Given the description of an element on the screen output the (x, y) to click on. 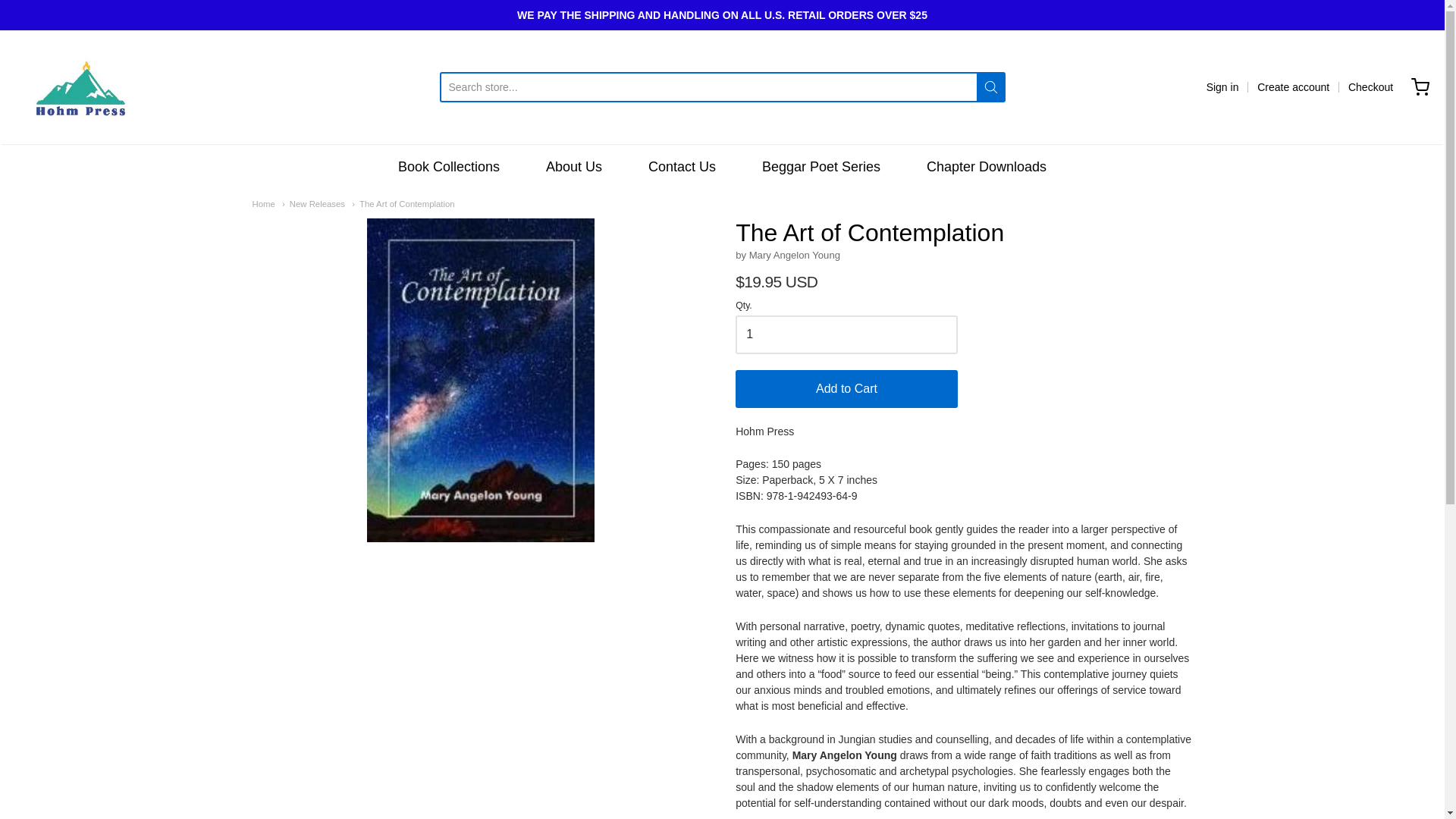
The Art of Contemplation (403, 203)
Hohm Press (80, 86)
Create account (1293, 86)
Book Collections (448, 166)
Home (263, 203)
Beggar Poet Series (820, 166)
New Releases (313, 203)
Chapter Downloads (986, 166)
by Mary Angelon Young (787, 255)
Checkout (1370, 86)
Contact Us (681, 166)
Add to Cart (846, 388)
About Us (574, 166)
New Releases (313, 203)
by Mary Angelon Young (787, 255)
